Given the description of an element on the screen output the (x, y) to click on. 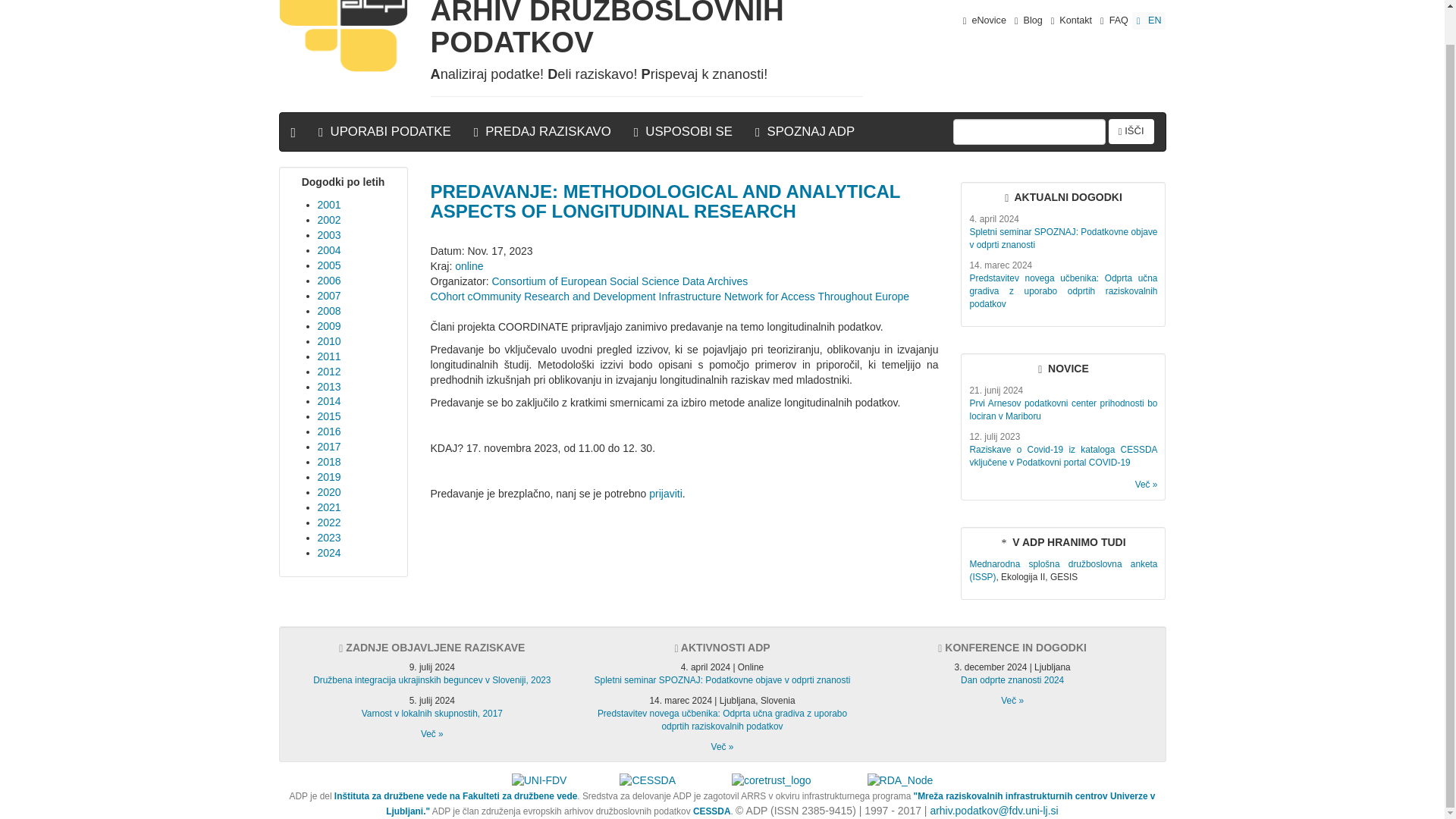
Vse novice (1146, 484)
  eNovice (984, 19)
  eNovice (984, 20)
  Blog (1028, 20)
  Blog (1028, 19)
Arhiv konferenc in dogodkov (1012, 700)
  Kontakt (1071, 19)
Poglej podrobnosti o raziskavi (1063, 570)
Where is online -- Google Maps (468, 265)
  FAQ (1114, 19)
  FAQ (1114, 20)
Arhiv aktivnosti ADP (722, 747)
  Kontakt (1071, 20)
  UPORABI PODATKE (385, 131)
Arhiv raziskav (432, 733)
